Given the description of an element on the screen output the (x, y) to click on. 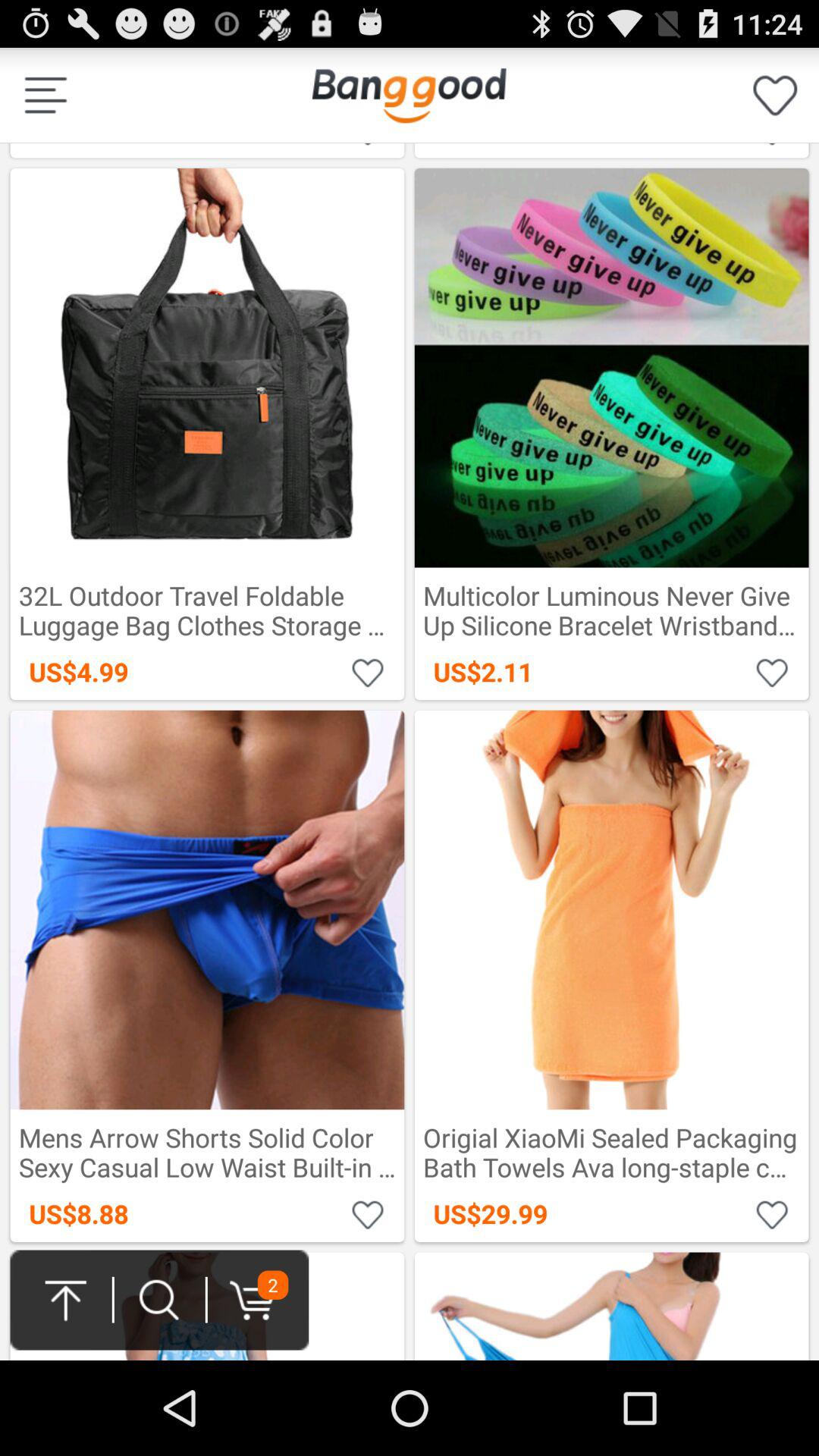
open menu (45, 95)
